Given the description of an element on the screen output the (x, y) to click on. 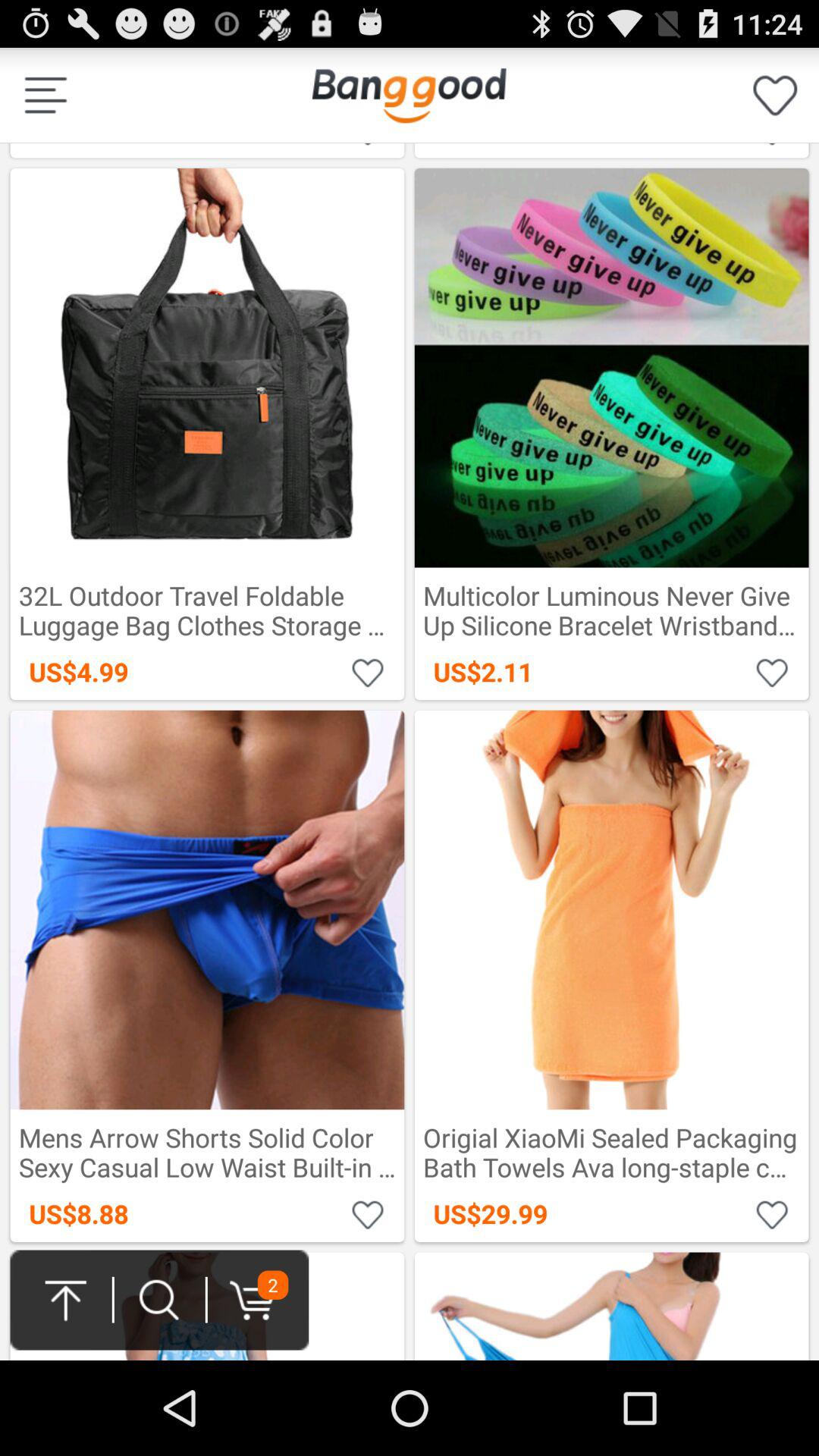
open menu (45, 95)
